Given the description of an element on the screen output the (x, y) to click on. 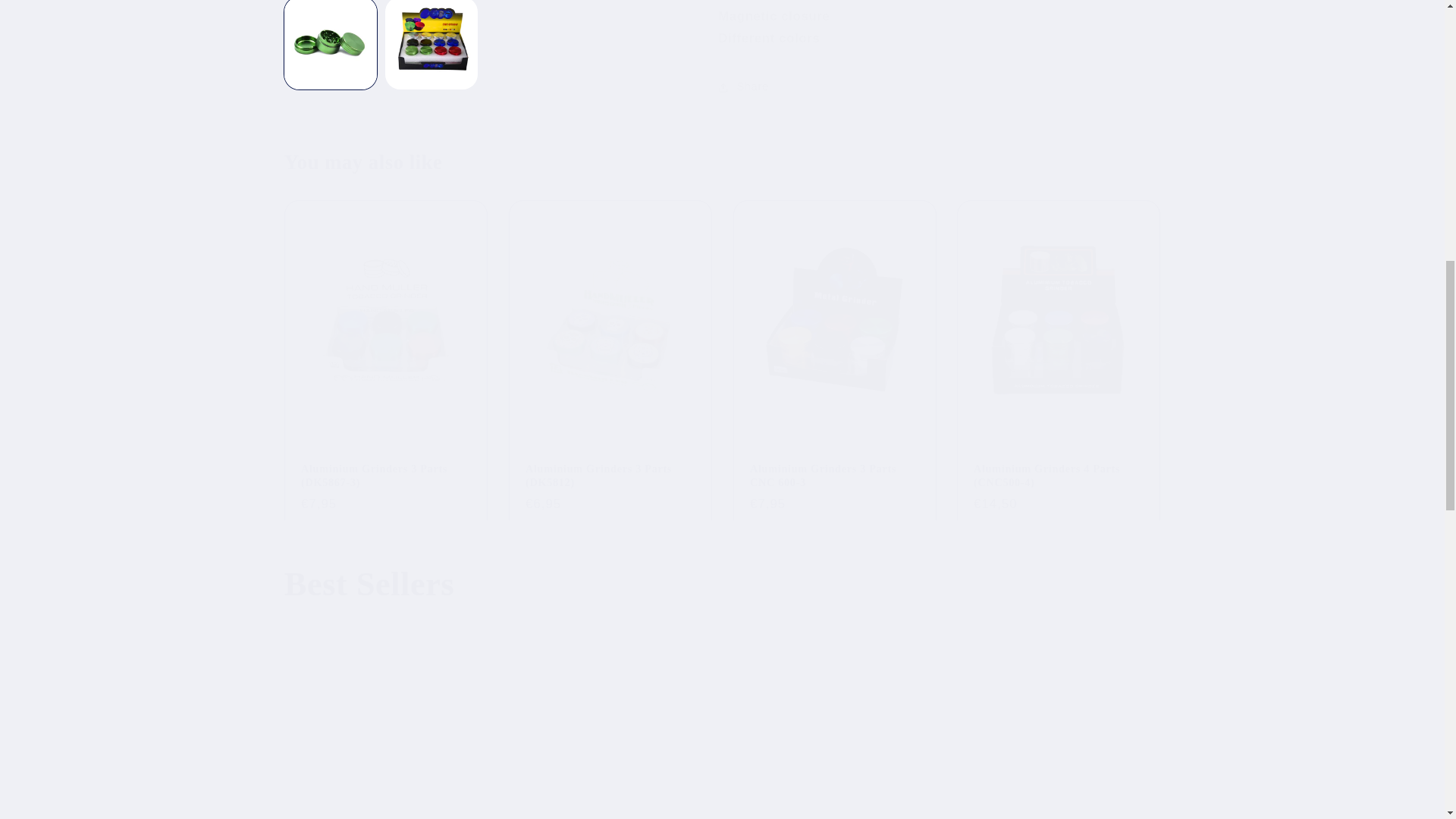
Best Sellers (721, 584)
